Given the description of an element on the screen output the (x, y) to click on. 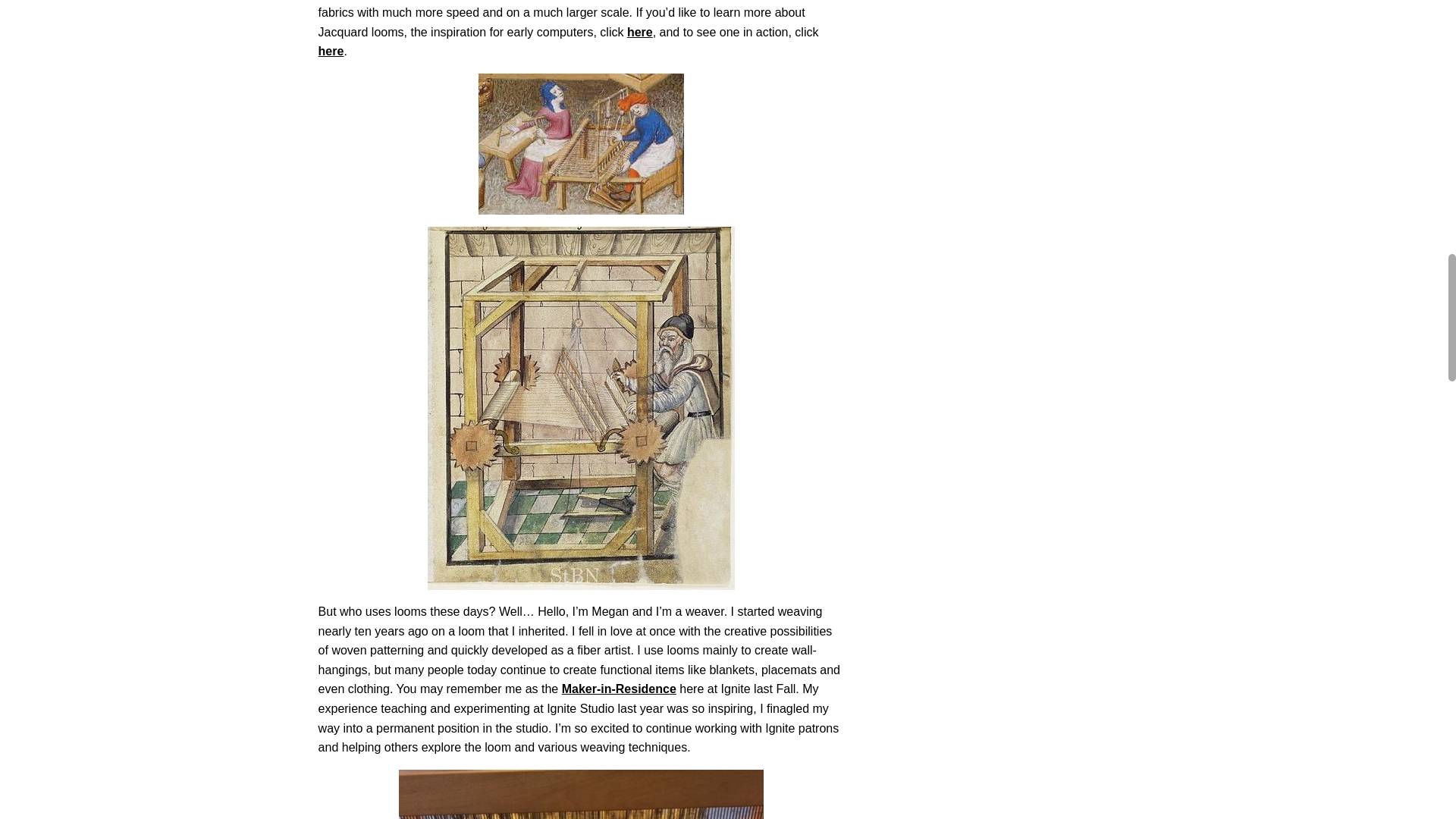
Maker-in-Residence (619, 688)
here (330, 51)
here (639, 31)
